Given the description of an element on the screen output the (x, y) to click on. 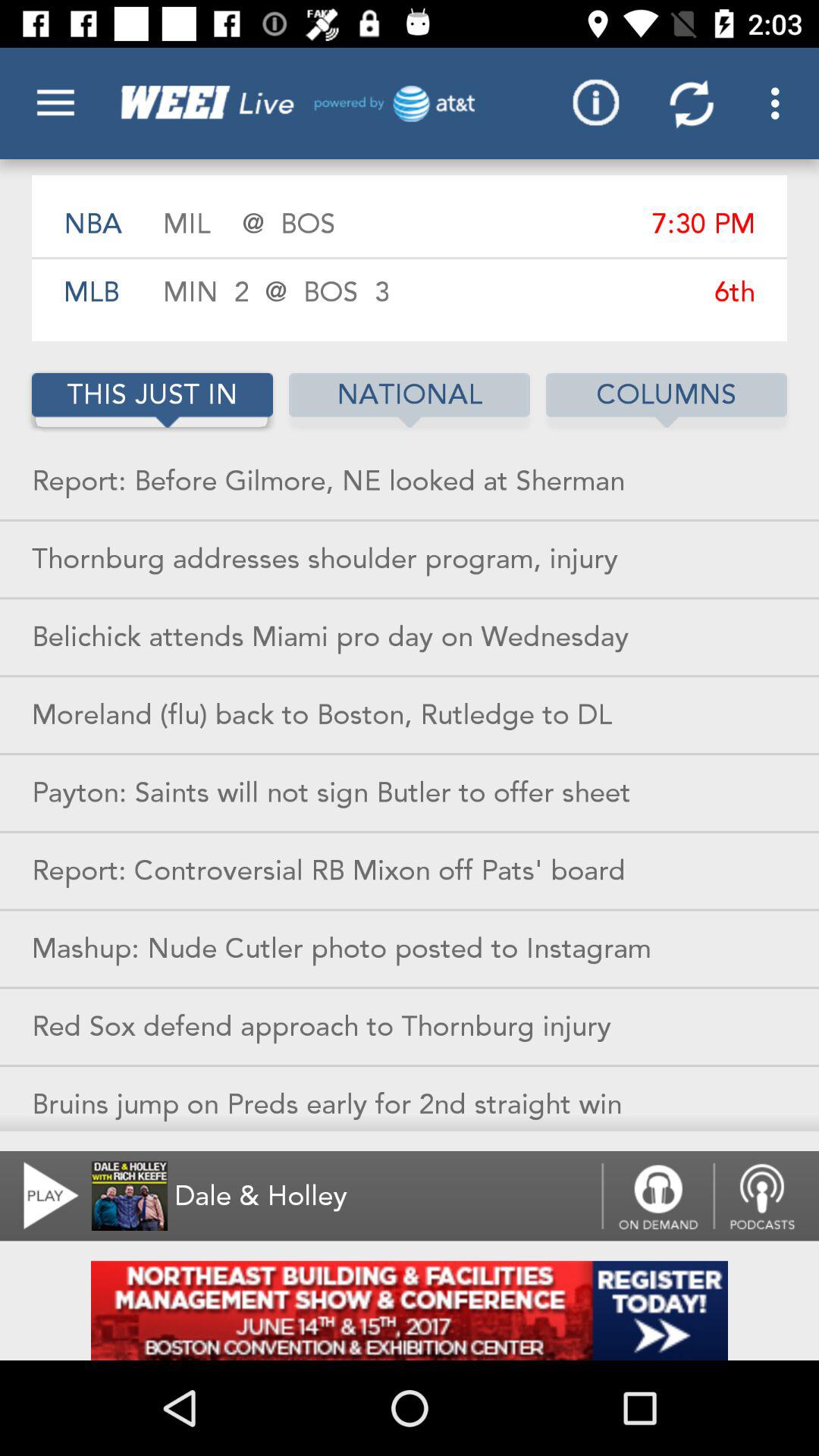
open advertisement (409, 1310)
